Given the description of an element on the screen output the (x, y) to click on. 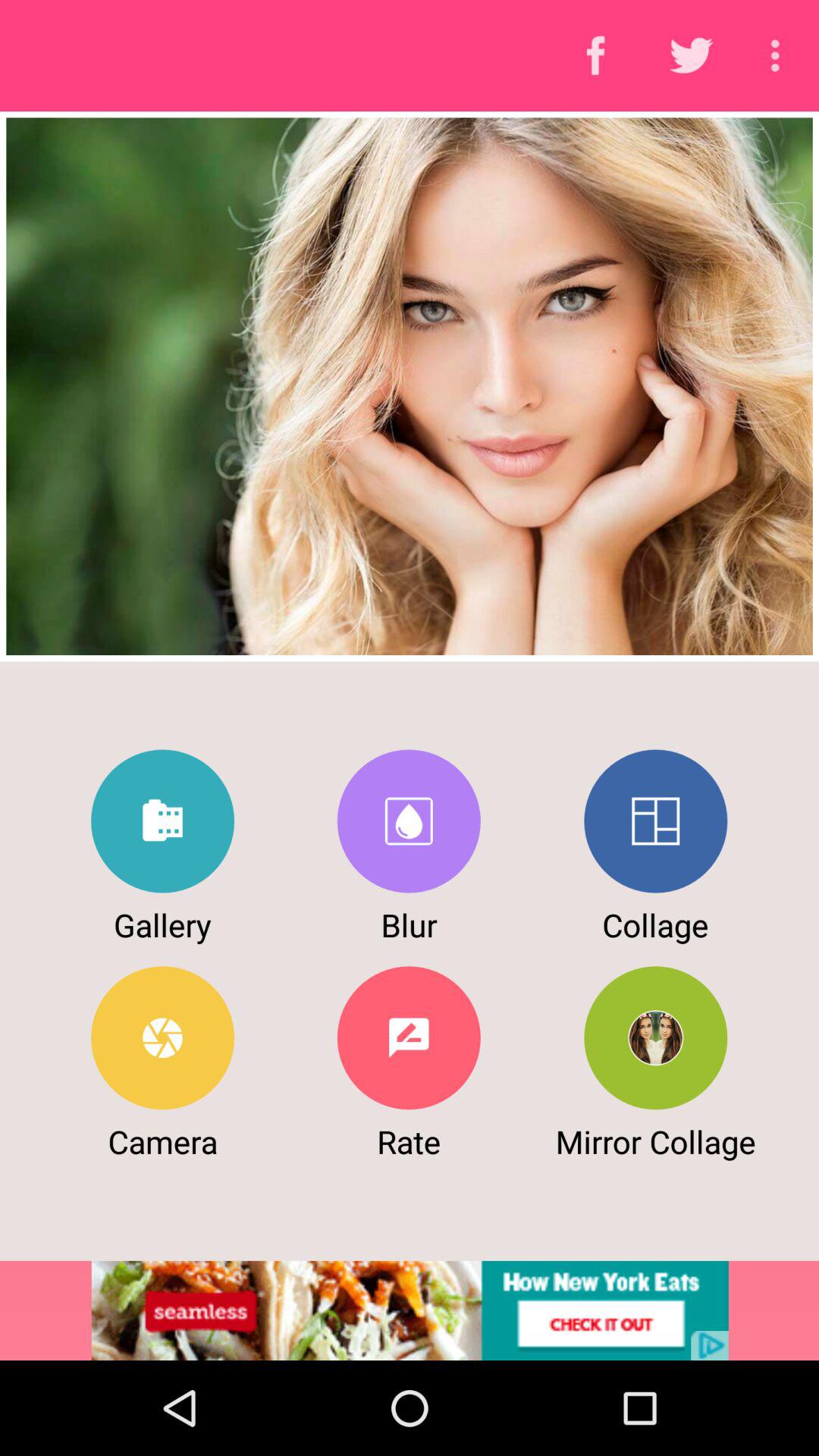
to go gallery (162, 820)
